Given the description of an element on the screen output the (x, y) to click on. 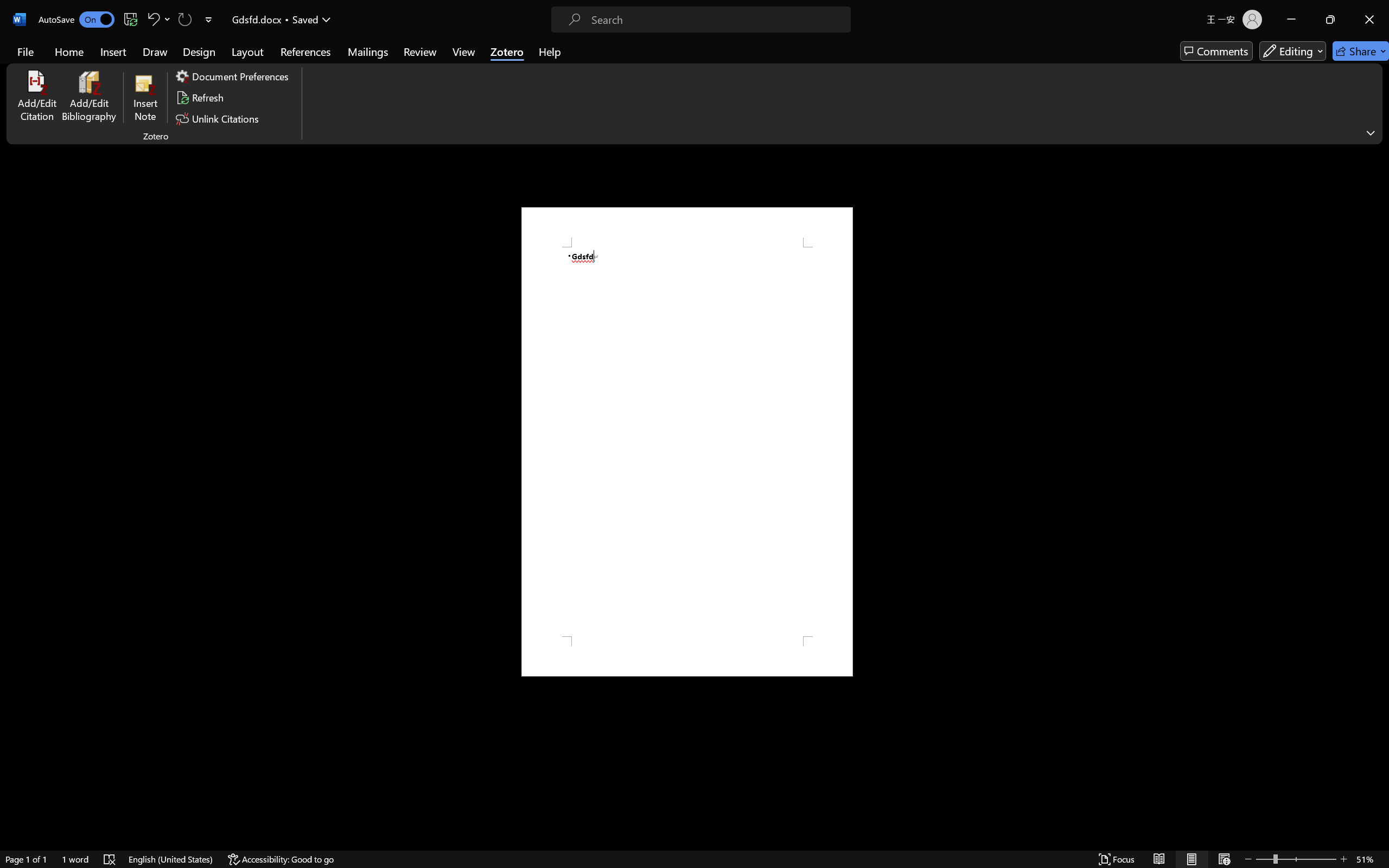
Page 1 content (686, 441)
